Given the description of an element on the screen output the (x, y) to click on. 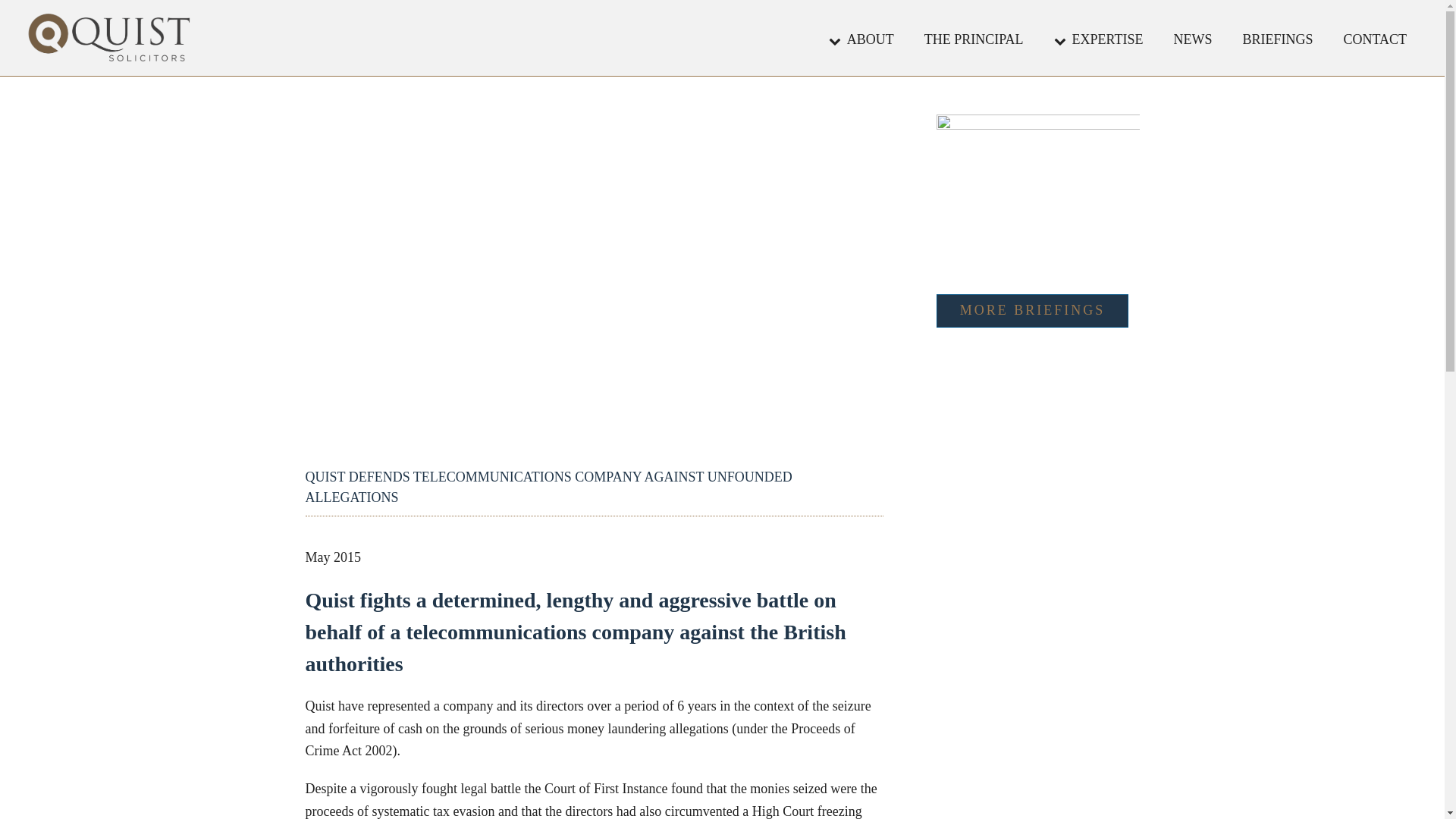
EXPERTISE (1098, 38)
MORE BRIEFINGS (1032, 310)
CONTACT (1374, 38)
NEWS (1192, 38)
CONTACT (1374, 38)
ABOUT (860, 38)
NEWS (1192, 38)
THE PRINCIPAL (973, 38)
BRIEFINGS (1277, 38)
ABOUT (860, 38)
EXPERTISE (1098, 38)
THE PRINCIPAL (973, 38)
BRIEFINGS (1277, 38)
